Given the description of an element on the screen output the (x, y) to click on. 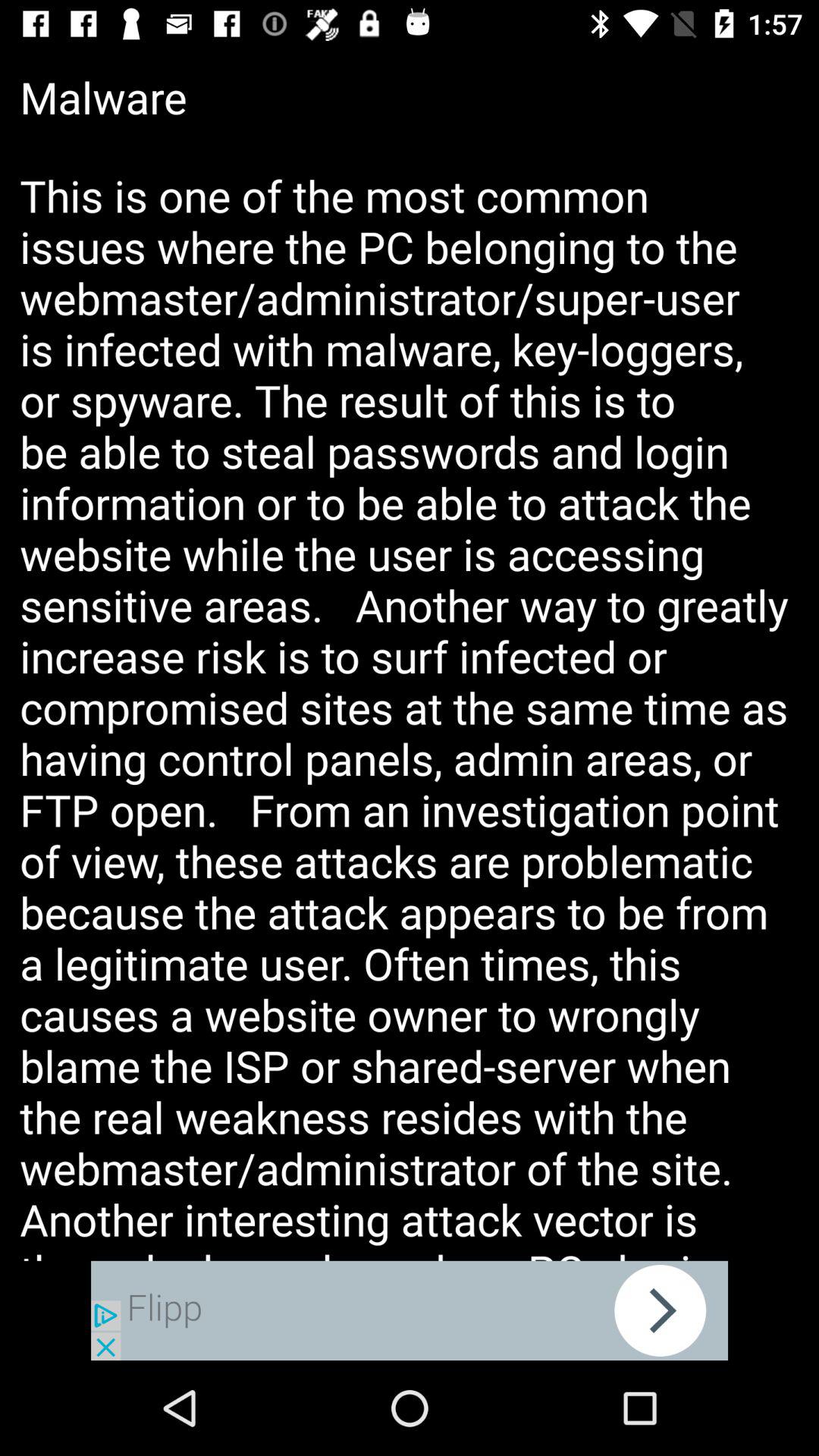
advertisement (409, 1310)
